Given the description of an element on the screen output the (x, y) to click on. 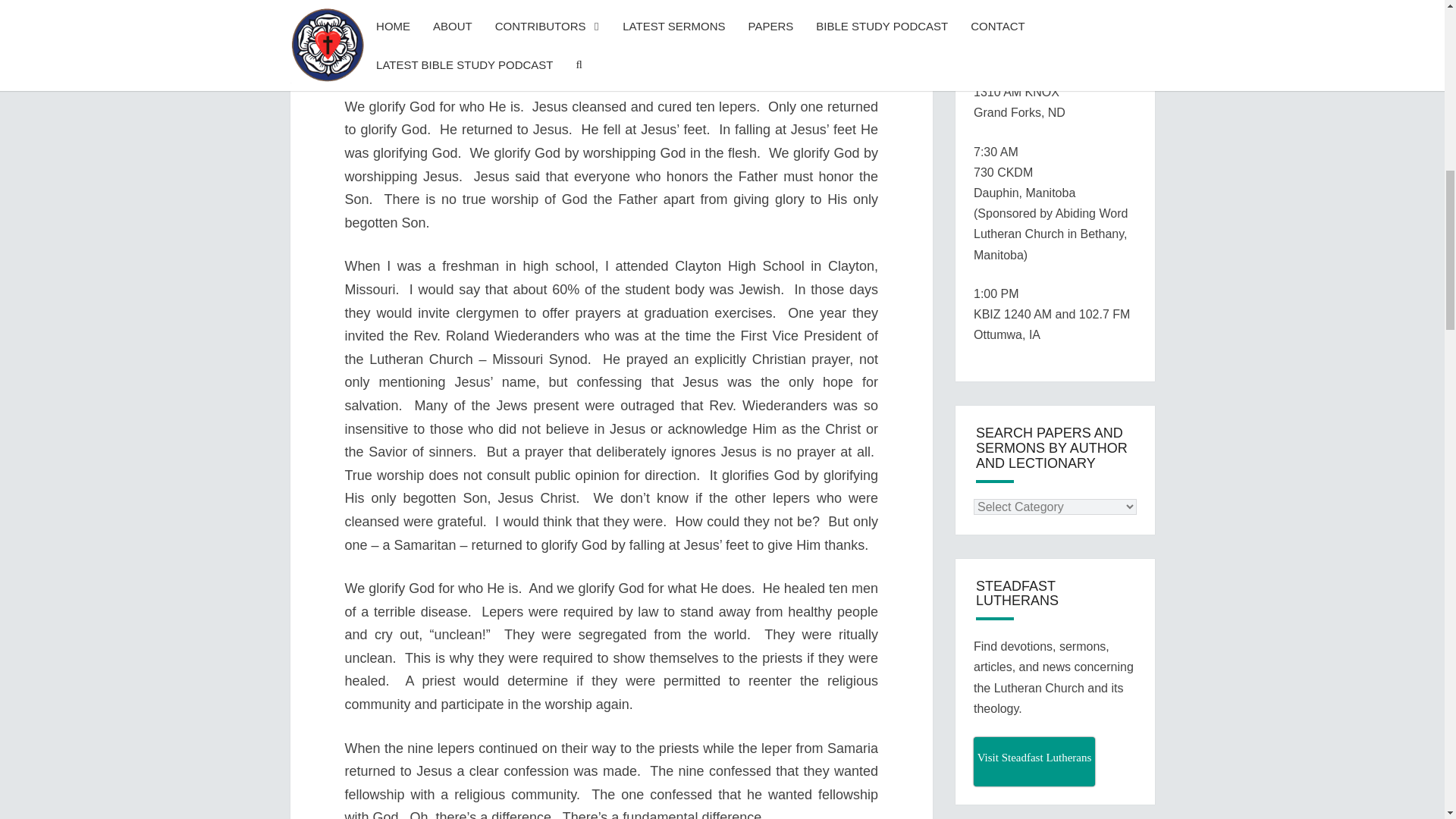
Visit Steadfast Lutherans (1034, 761)
